Given the description of an element on the screen output the (x, y) to click on. 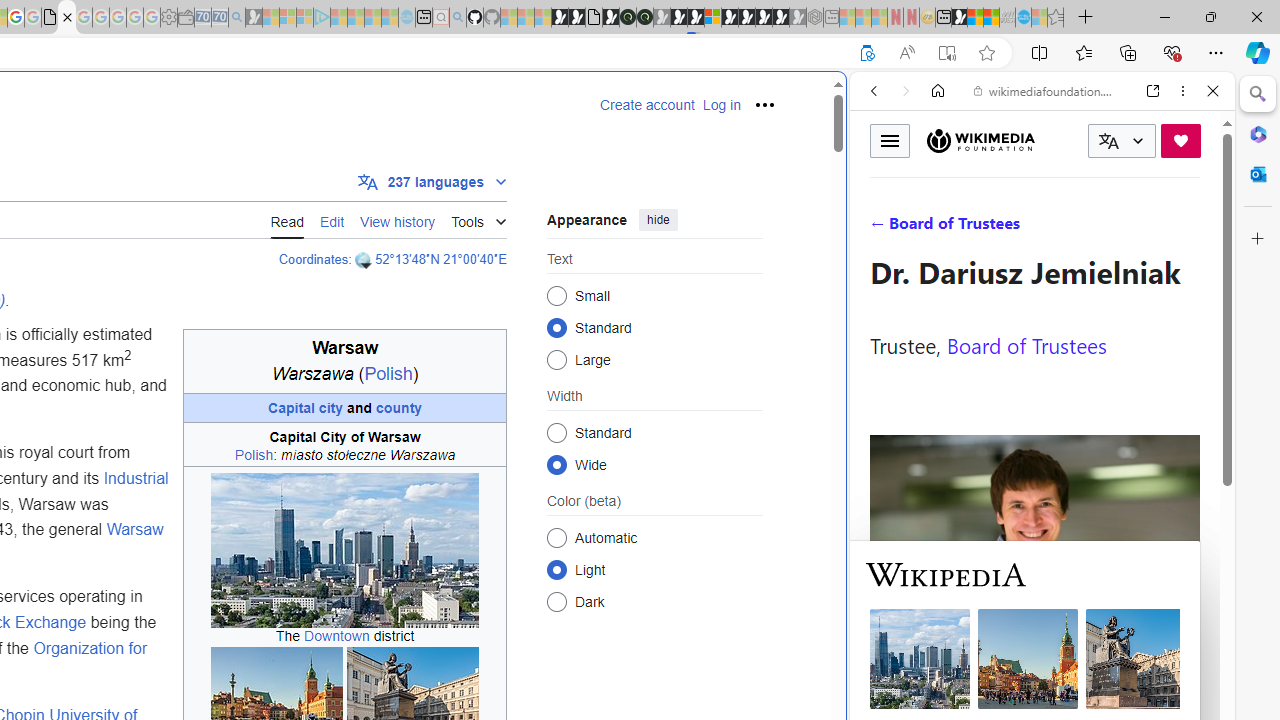
View history (397, 219)
Read (287, 219)
Small (556, 295)
